Given the description of an element on the screen output the (x, y) to click on. 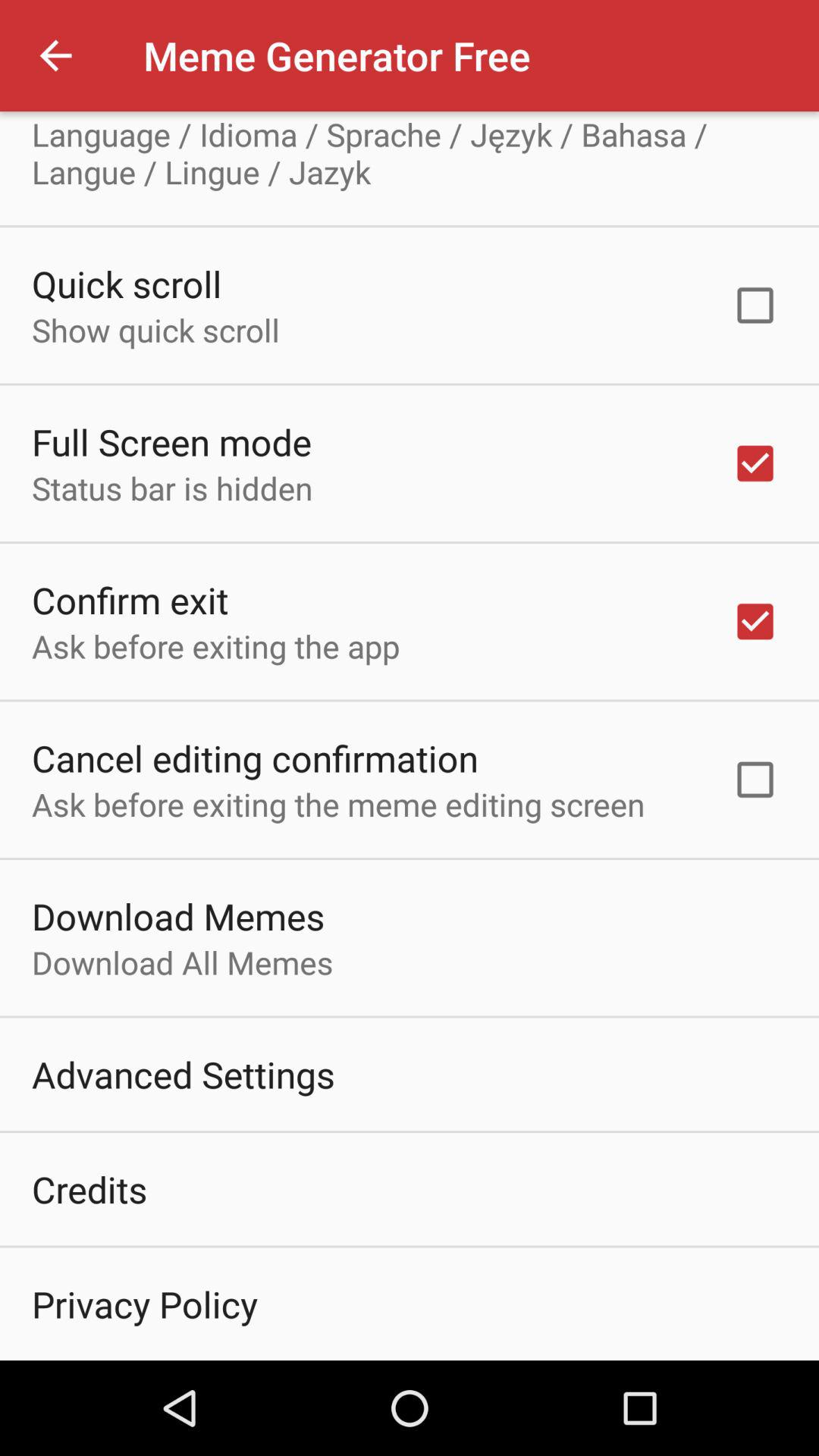
scroll until the select language item (160, 111)
